Given the description of an element on the screen output the (x, y) to click on. 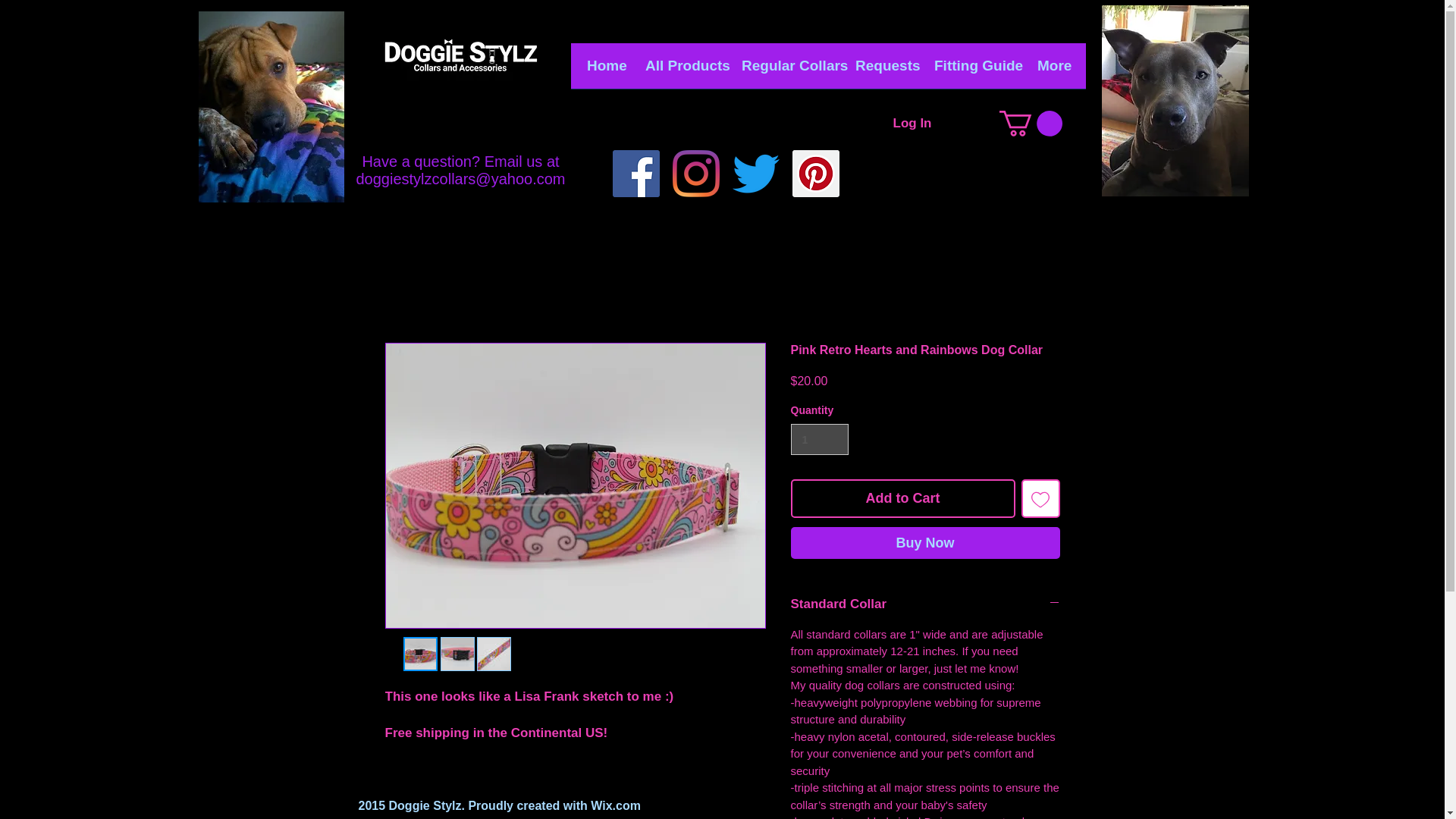
Log In (912, 123)
1 (818, 439)
Requests (883, 70)
Fitting Guide (974, 70)
All Products (681, 70)
Home (604, 70)
Facebook Like (459, 128)
